Given the description of an element on the screen output the (x, y) to click on. 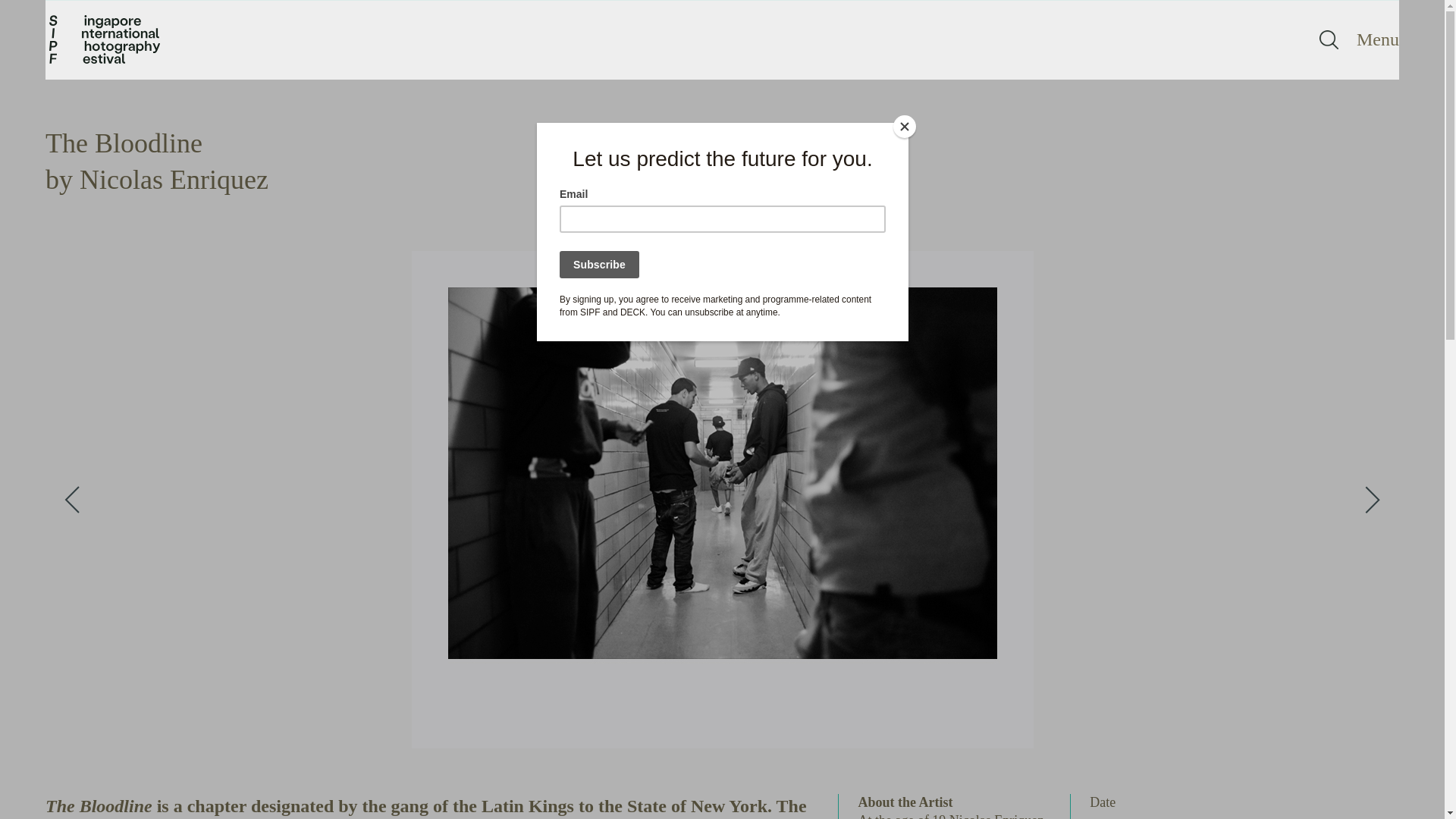
Search (1328, 39)
Search (1328, 39)
